Given the description of an element on the screen output the (x, y) to click on. 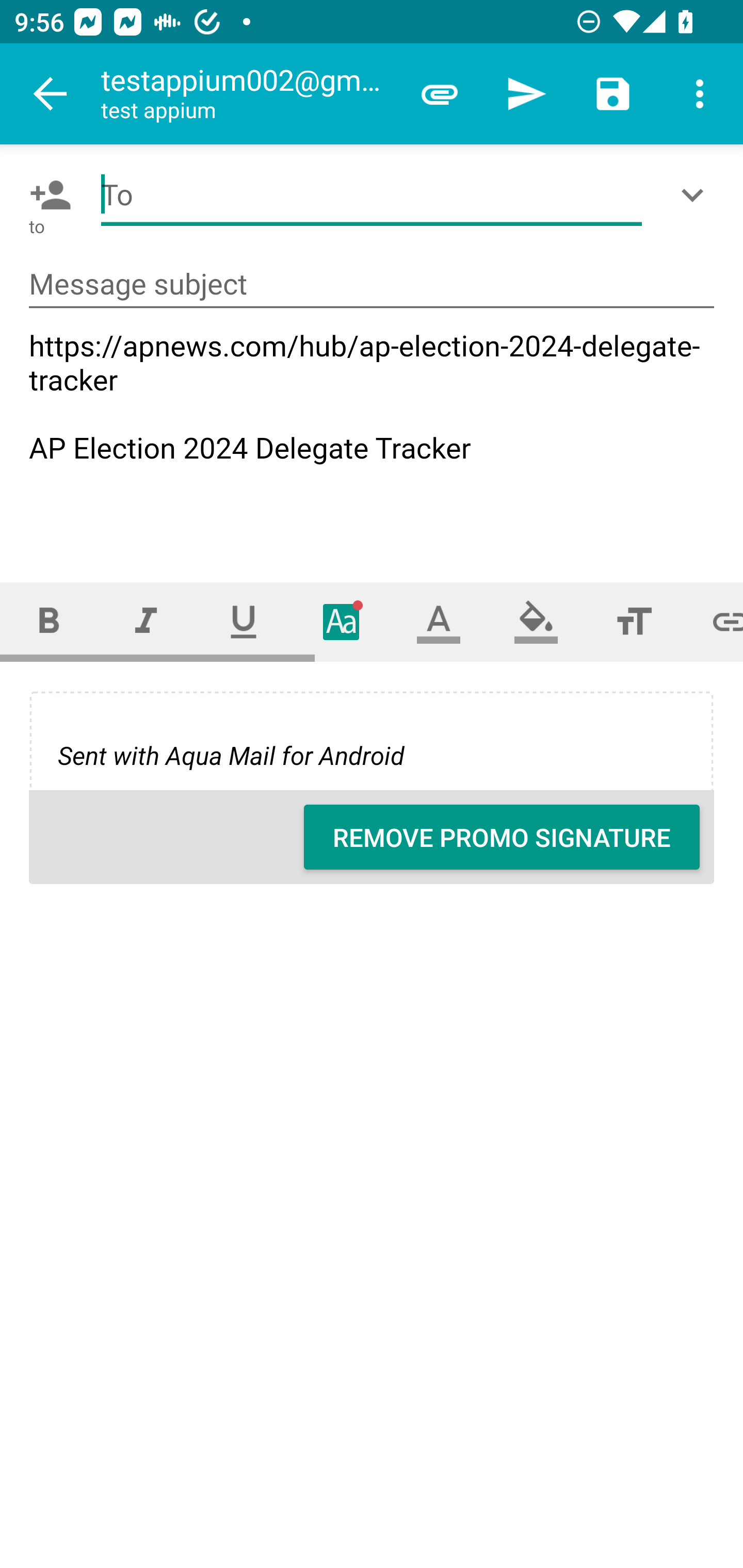
Navigate up (50, 93)
testappium002@gmail.com test appium (248, 93)
Attach (439, 93)
Send (525, 93)
Save (612, 93)
More options (699, 93)
Pick contact: To (46, 195)
Show/Add CC/BCC (696, 195)
To (371, 195)
Message subject (371, 284)
Bold (48, 621)
Italic (145, 621)
Underline (243, 621)
Typeface (font) (341, 621)
Text color (438, 621)
Fill color (536, 621)
Font size (633, 621)
Set link (712, 621)
REMOVE PROMO SIGNATURE (501, 837)
